Given the description of an element on the screen output the (x, y) to click on. 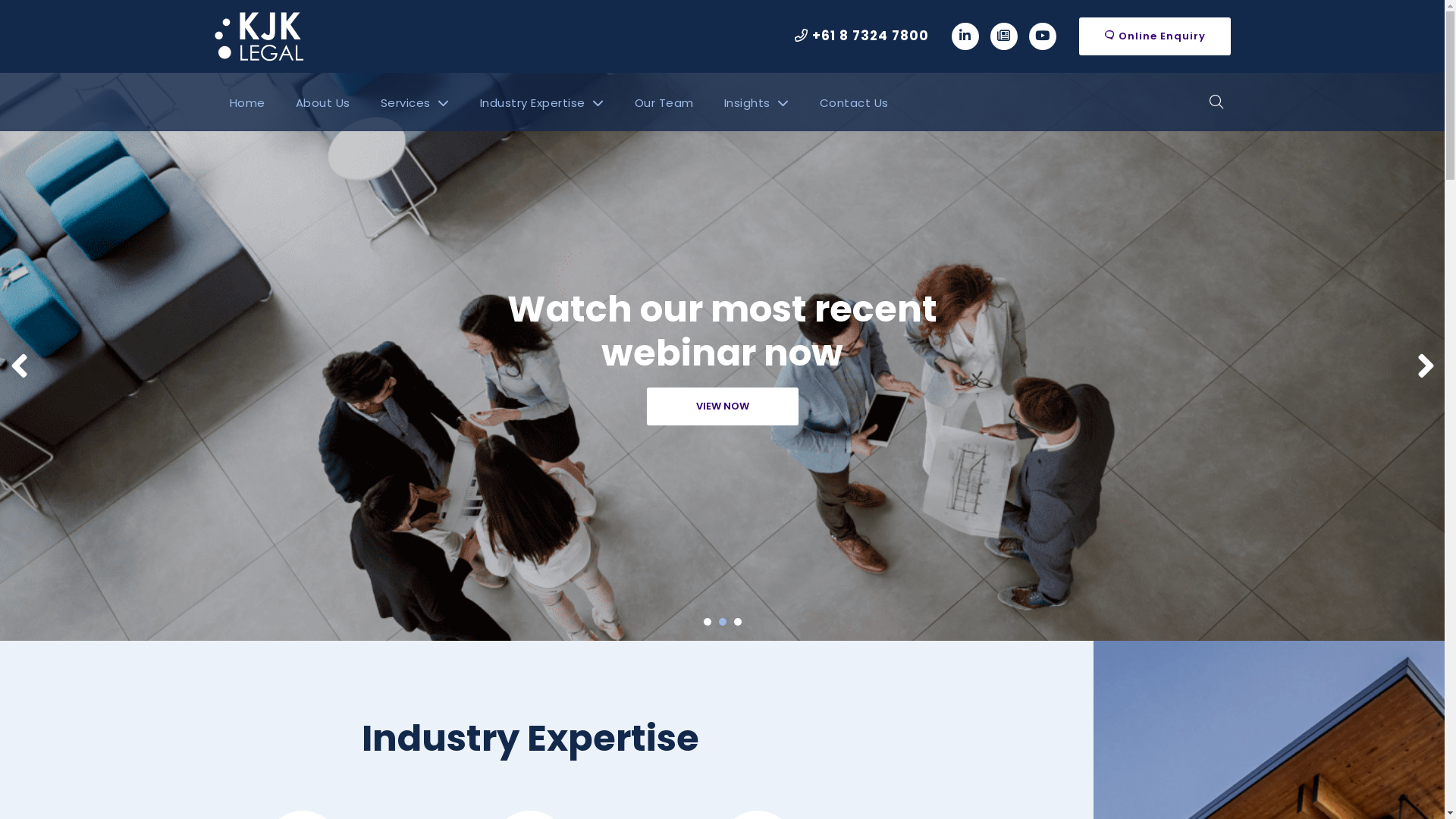
2 Element type: text (722, 621)
Our Team Element type: text (663, 102)
Industry Expertise Element type: text (541, 102)
Contact Us Element type: text (853, 102)
Previous Element type: text (18, 365)
About Us Element type: text (322, 102)
VIEW NOW Element type: text (721, 406)
Services Element type: text (414, 102)
Insights Element type: text (755, 102)
Home Element type: text (246, 102)
Next Element type: text (1425, 365)
+61 8 7324 7800 Element type: text (861, 36)
1 Element type: text (707, 621)
Online Enquiry Element type: text (1154, 36)
3 Element type: text (737, 621)
